Given the description of an element on the screen output the (x, y) to click on. 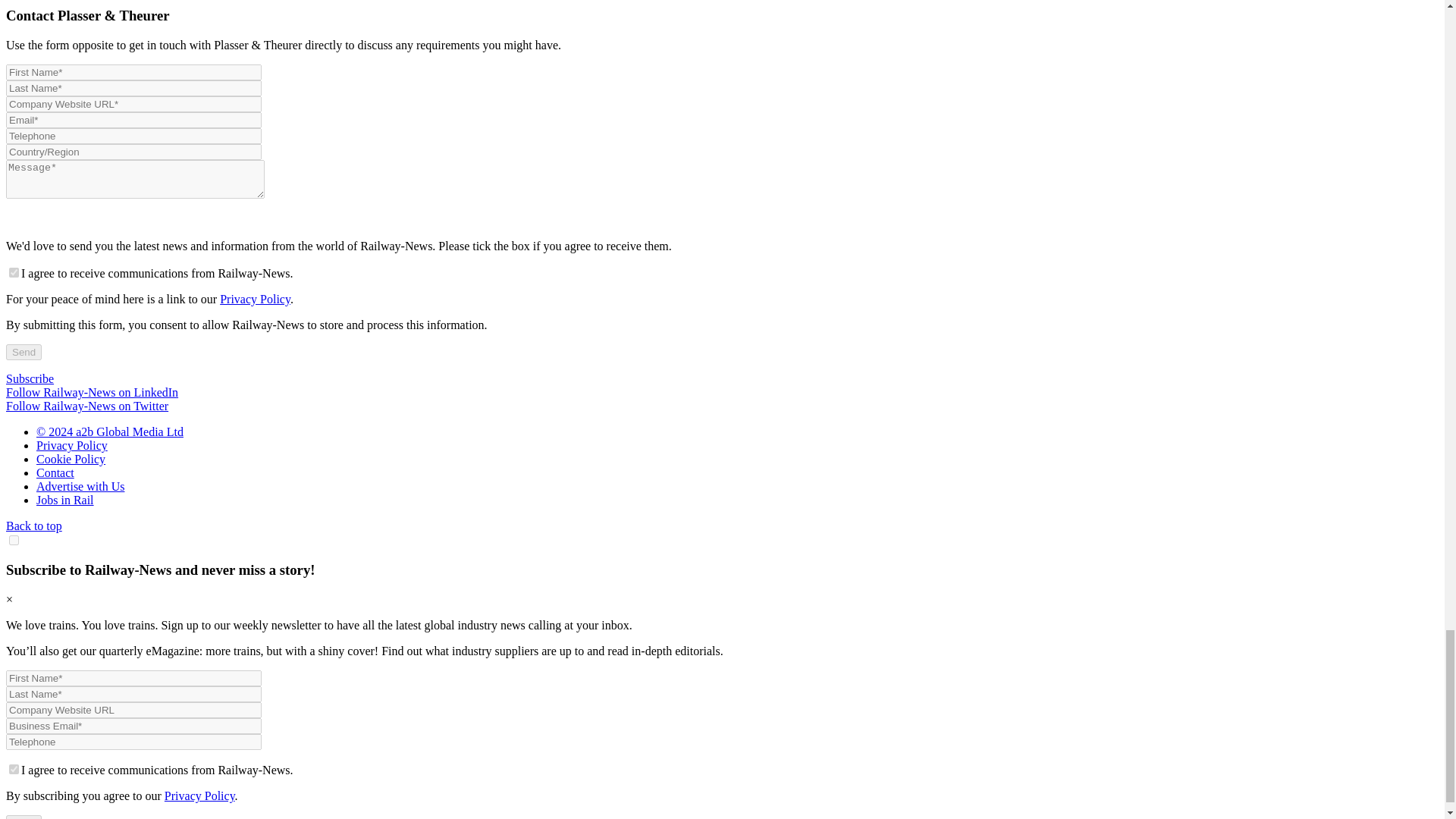
1 (13, 272)
Send (23, 351)
1 (13, 768)
